Given the description of an element on the screen output the (x, y) to click on. 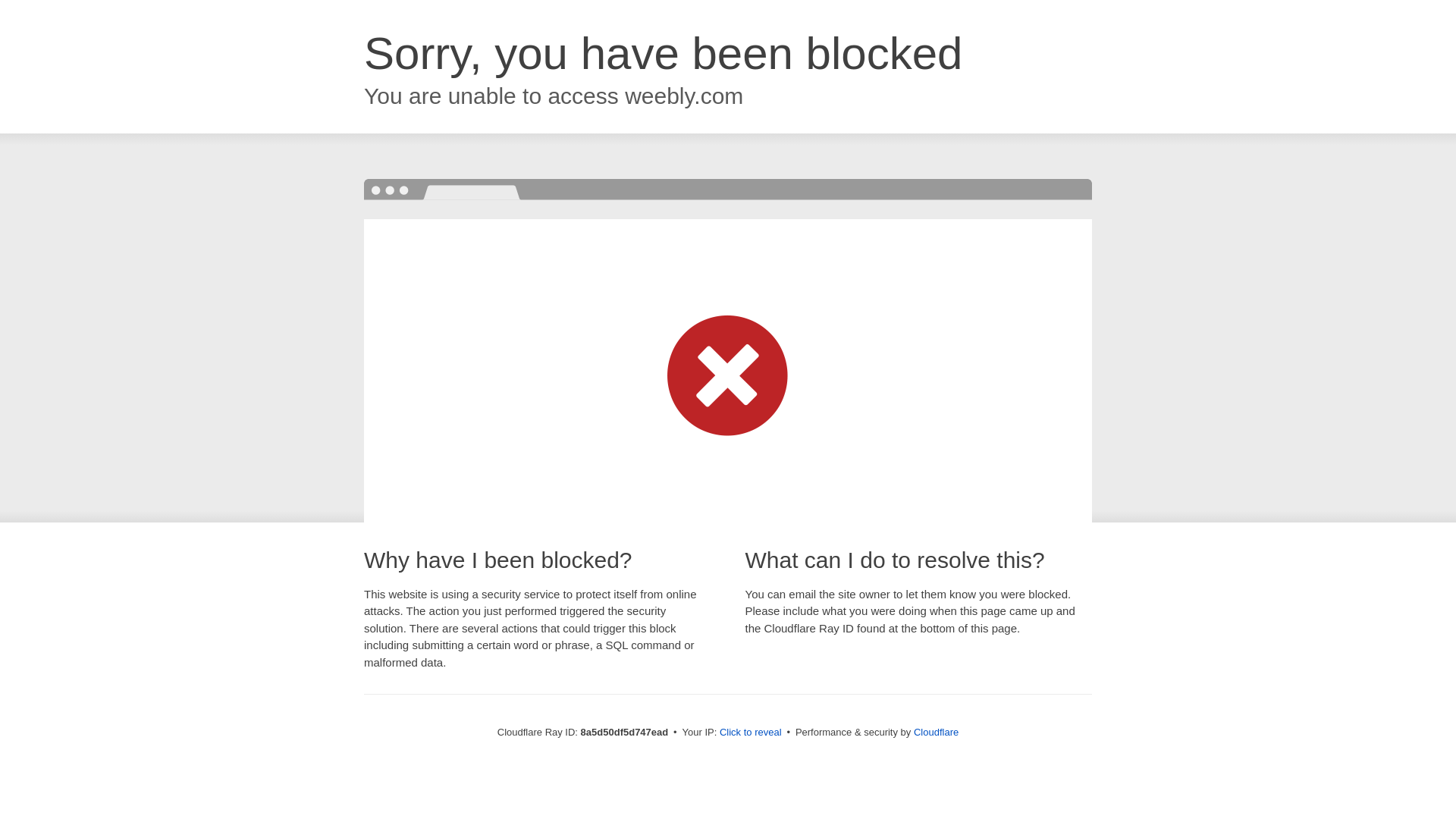
Cloudflare (936, 731)
Click to reveal (750, 732)
